Given the description of an element on the screen output the (x, y) to click on. 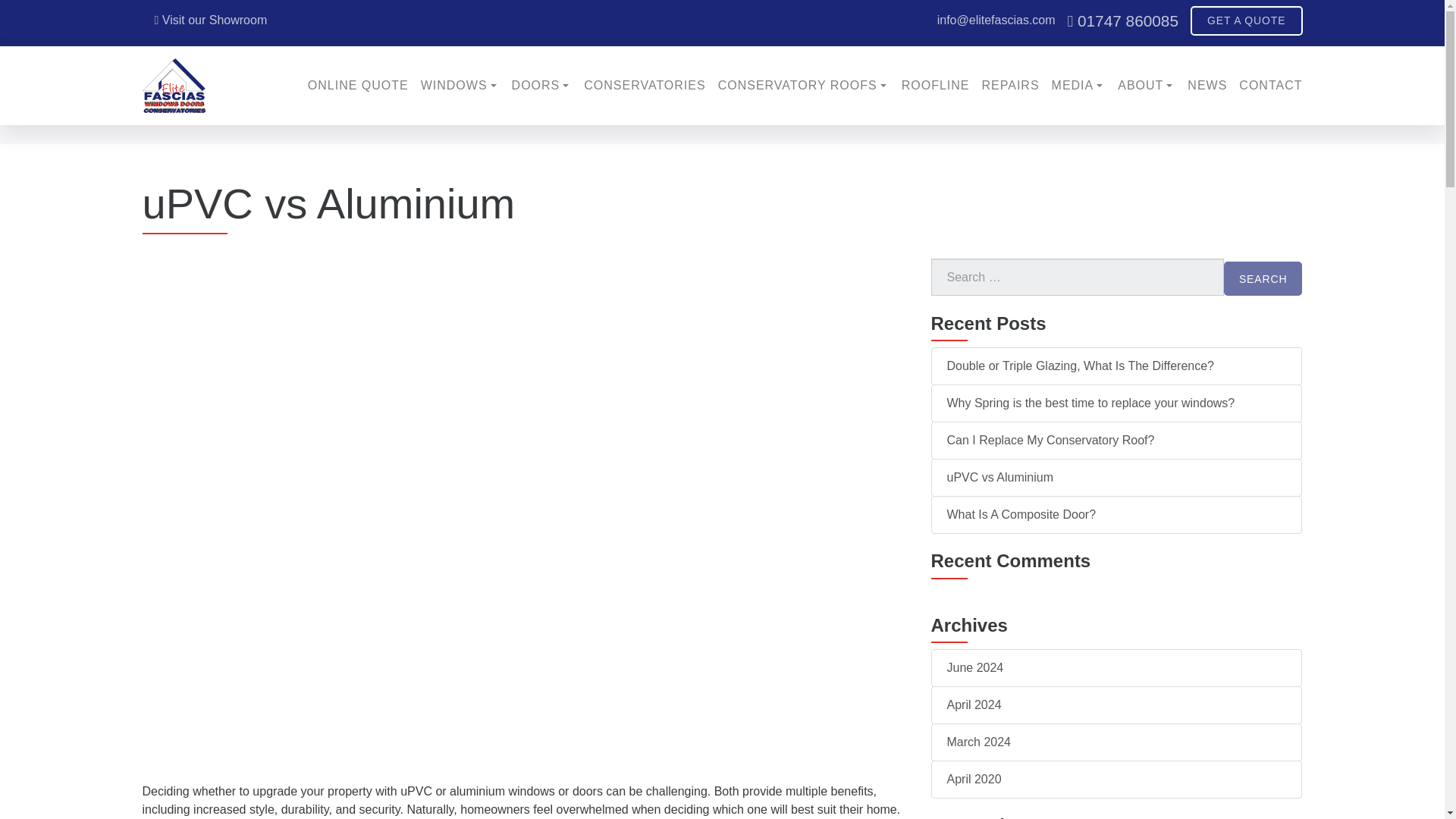
CONSERVATORY ROOFS (803, 85)
DOORS (542, 85)
01747 860085 (1122, 20)
Conservatories (643, 85)
GET A QUOTE (1247, 20)
Search (1263, 278)
ONLINE QUOTE (358, 85)
WINDOWS (459, 85)
CONSERVATORIES (643, 85)
Doors (542, 85)
